Given the description of an element on the screen output the (x, y) to click on. 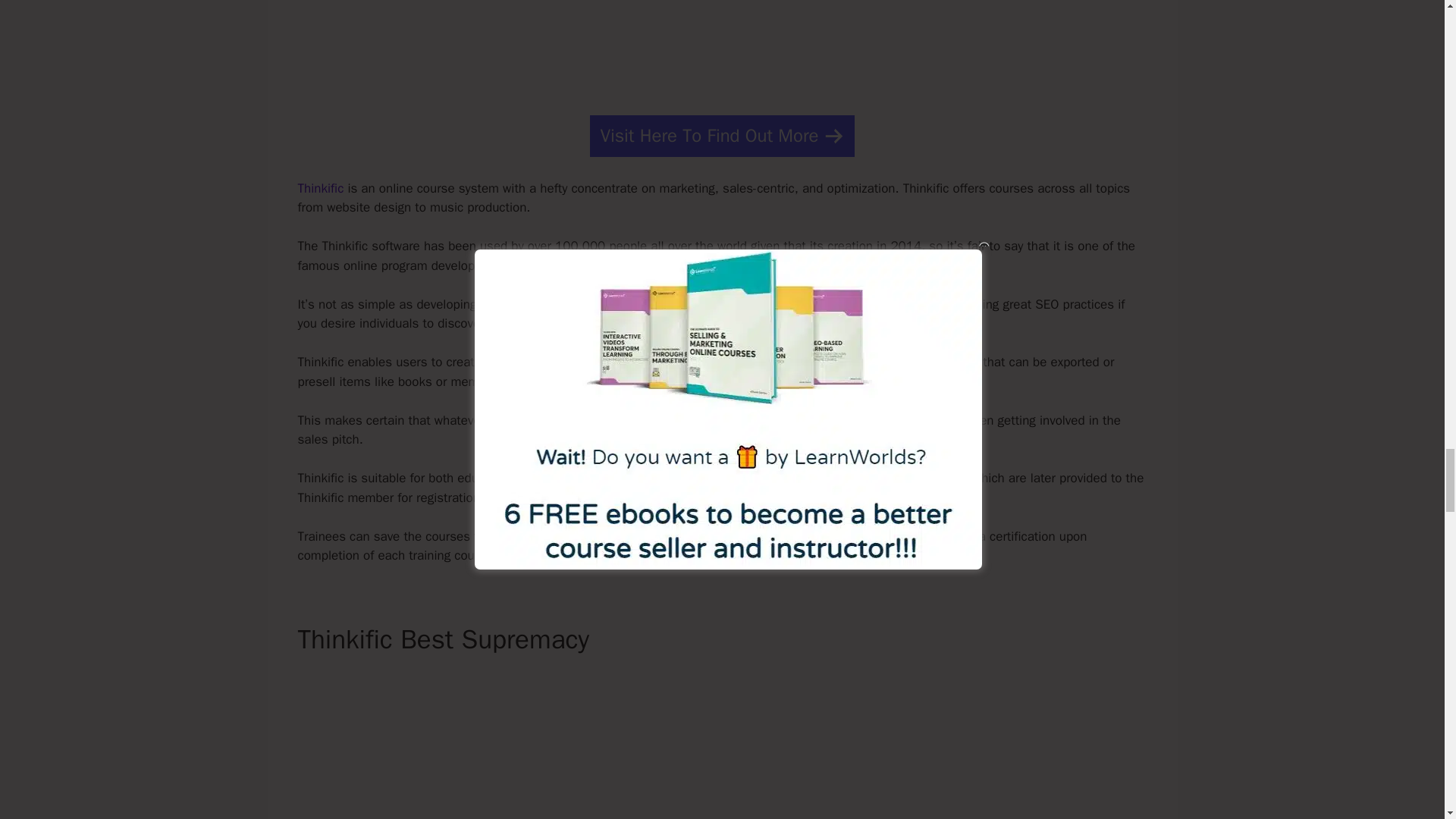
Thinkific (320, 188)
Visit Here To Find Out More (721, 136)
